Given the description of an element on the screen output the (x, y) to click on. 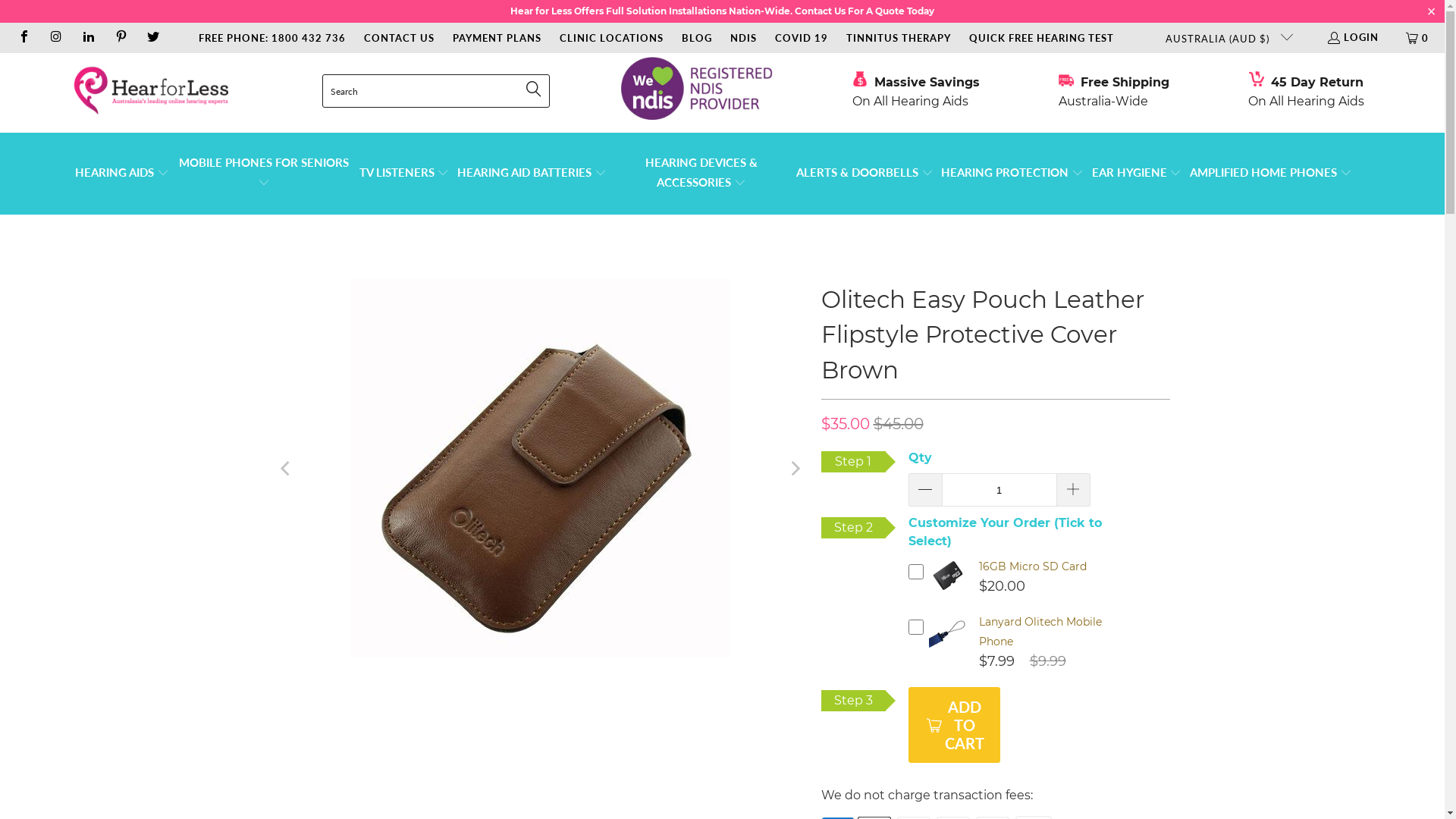
Massive Savings
On All Hearing Aids Element type: text (915, 91)
Hear for Less on Instagram Element type: hover (55, 37)
CLINIC LOCATIONS Element type: text (611, 37)
0 Element type: text (1417, 37)
COVID 19 Element type: text (801, 37)
TINNITUS THERAPY Element type: text (898, 37)
FREE PHONE: 1800 432 736 Element type: text (271, 37)
AUSTRALIA (AUD $) Element type: text (1222, 37)
Hear for Less on LinkedIn Element type: hover (87, 37)
QUICK FREE HEARING TEST Element type: text (1041, 37)
Hear for Less on Twitter Element type: hover (152, 37)
LOGIN Element type: text (1352, 37)
BLOG Element type: text (696, 37)
16GB Micro SD Card Element type: text (1031, 566)
PAYMENT PLANS Element type: text (496, 37)
Hear for Less Element type: hover (150, 90)
Hear for Less on Facebook Element type: hover (23, 37)
Lanyard Olitech Mobile Phone Element type: text (1039, 632)
CONTACT US Element type: text (399, 37)
45 Day Return
On All Hearing Aids Element type: text (1305, 91)
NDIS Element type: text (743, 37)
Free Shipping
Australia-Wide Element type: text (1113, 91)
Hear for Less on Pinterest Element type: hover (119, 37)
